Given the description of an element on the screen output the (x, y) to click on. 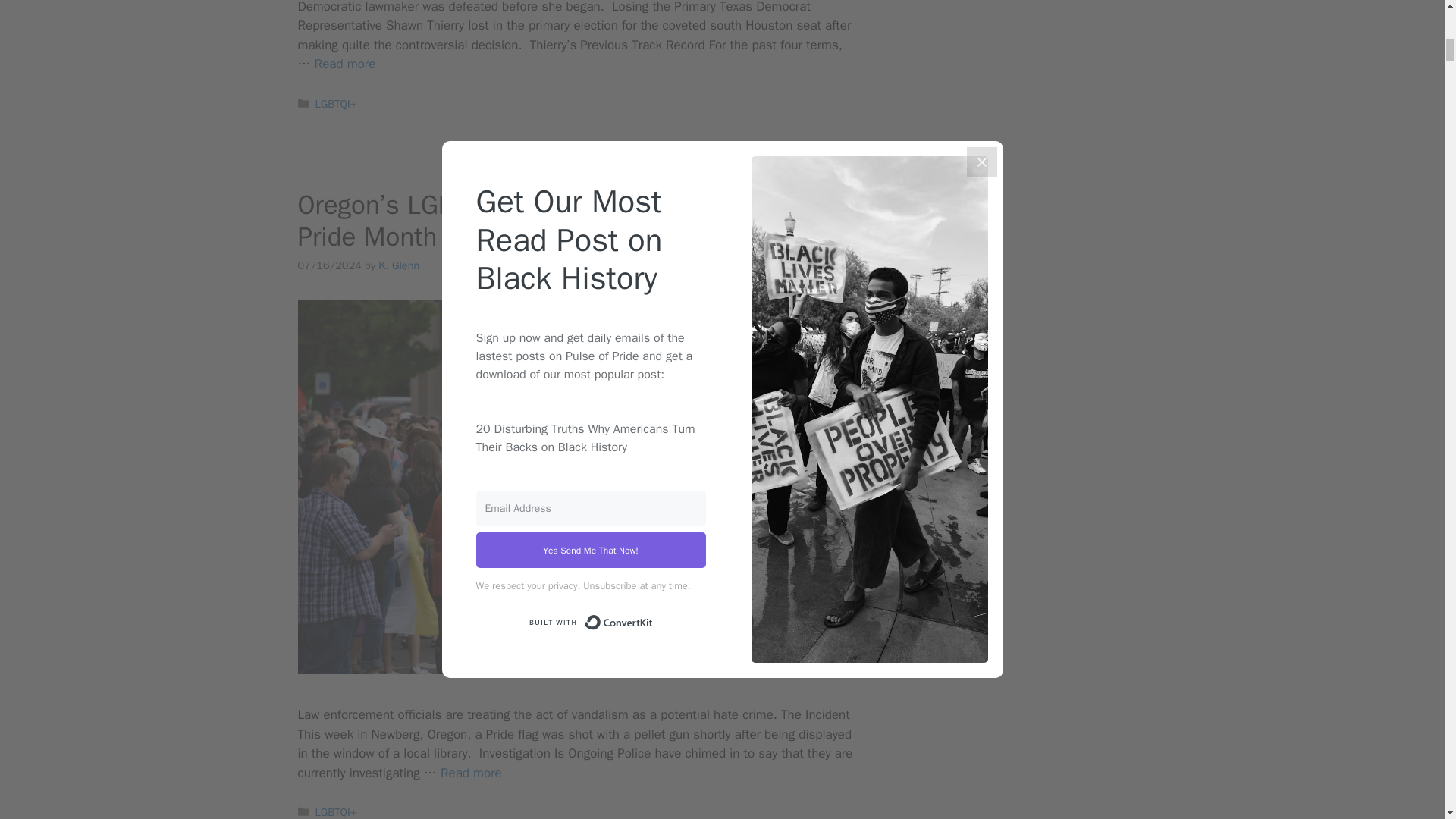
Read more (344, 64)
Read more (471, 772)
View all posts by K. Glenn (398, 264)
K. Glenn (398, 264)
